Given the description of an element on the screen output the (x, y) to click on. 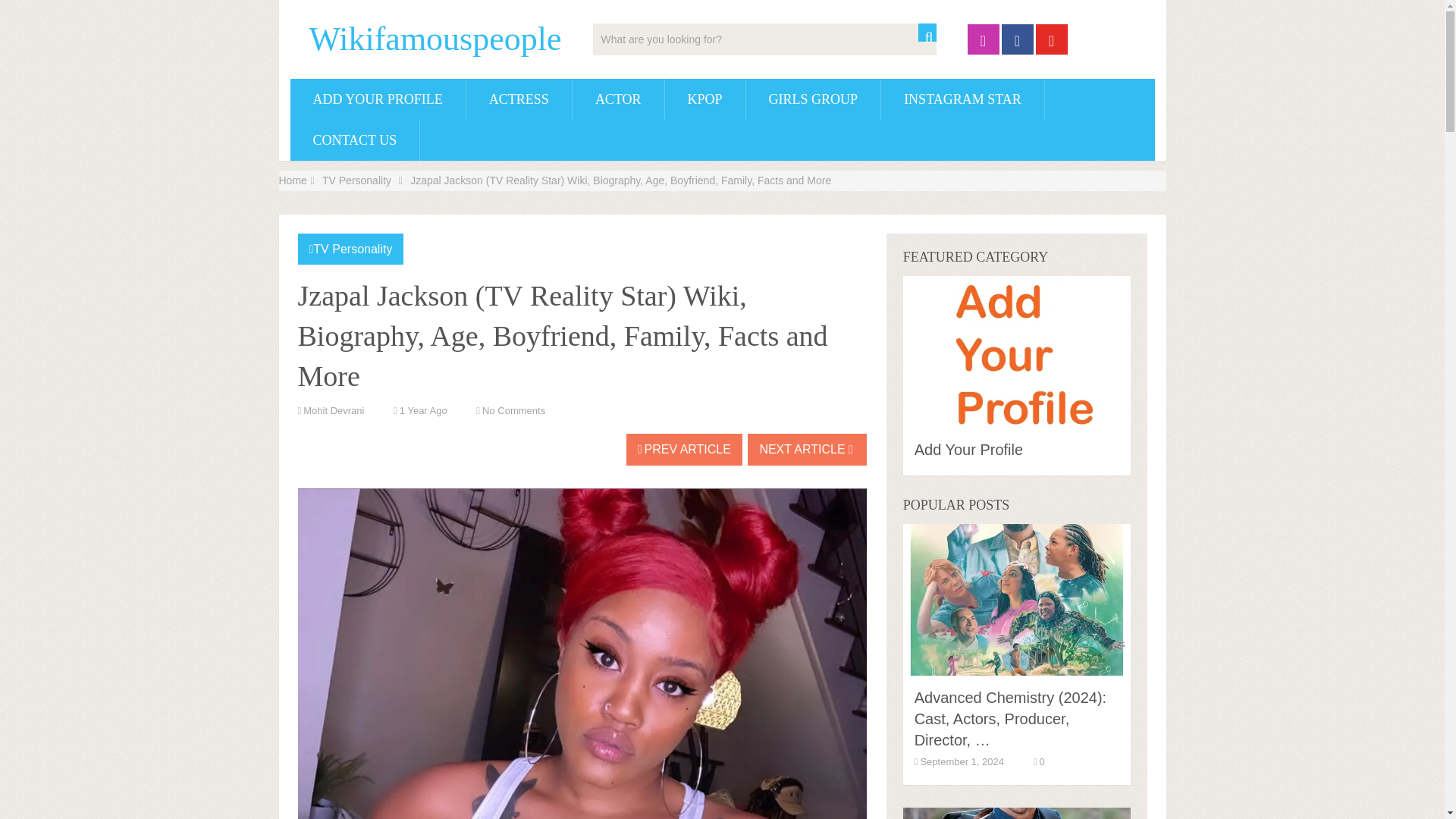
Posts by Mohit Devrani (333, 410)
GIRLS GROUP (812, 98)
NEXT ARTICLE (807, 450)
ACTRESS (518, 98)
PREV ARTICLE (684, 450)
View all posts in TV Personality (352, 248)
TV Personality (352, 248)
Mohit Devrani (333, 410)
KPOP (705, 98)
INSTAGRAM STAR (961, 98)
